Given the description of an element on the screen output the (x, y) to click on. 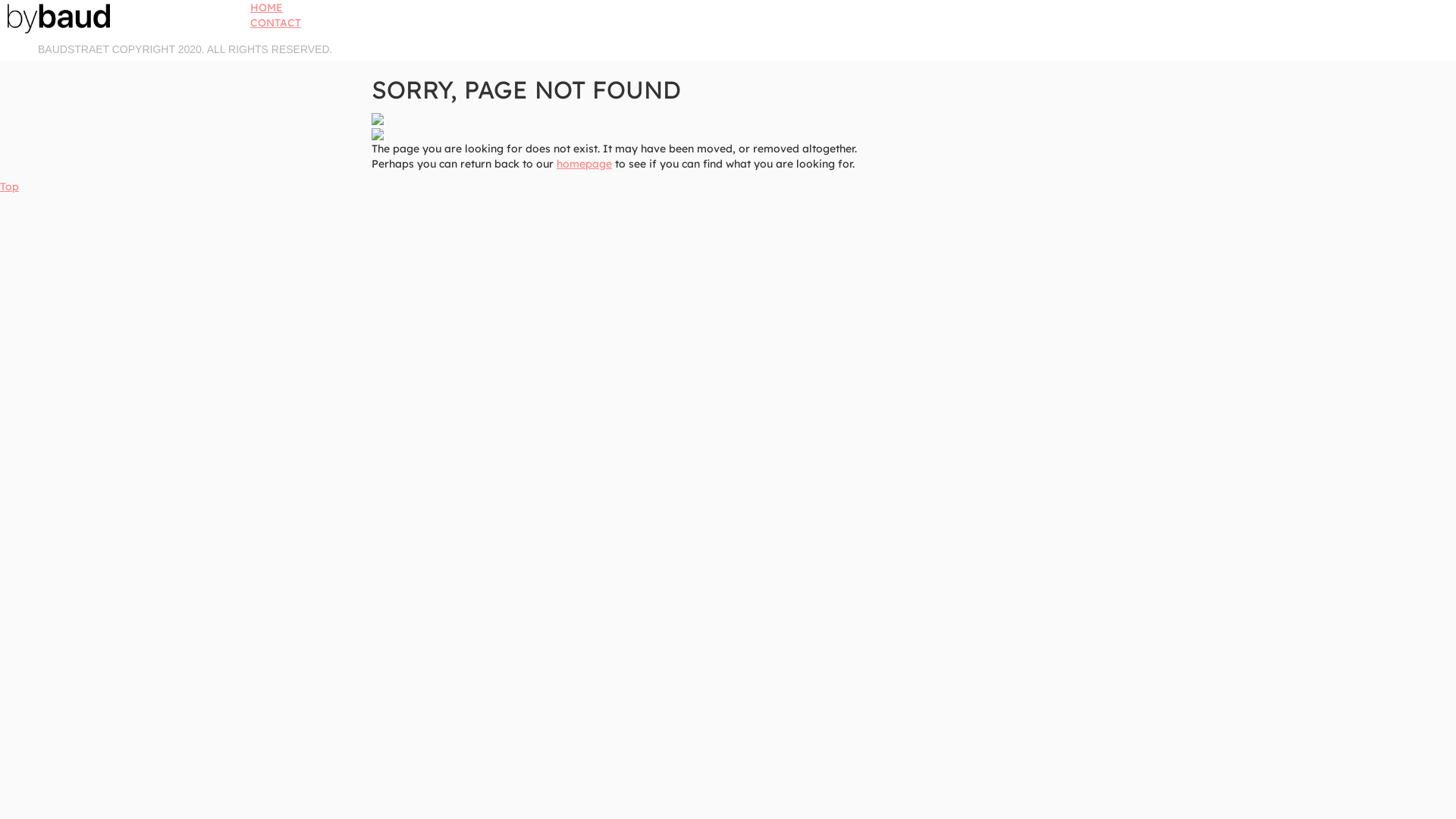
Top Element type: text (9, 186)
HOME Element type: text (266, 7)
CONTACT Element type: text (275, 22)
homepage Element type: text (583, 163)
